Given the description of an element on the screen output the (x, y) to click on. 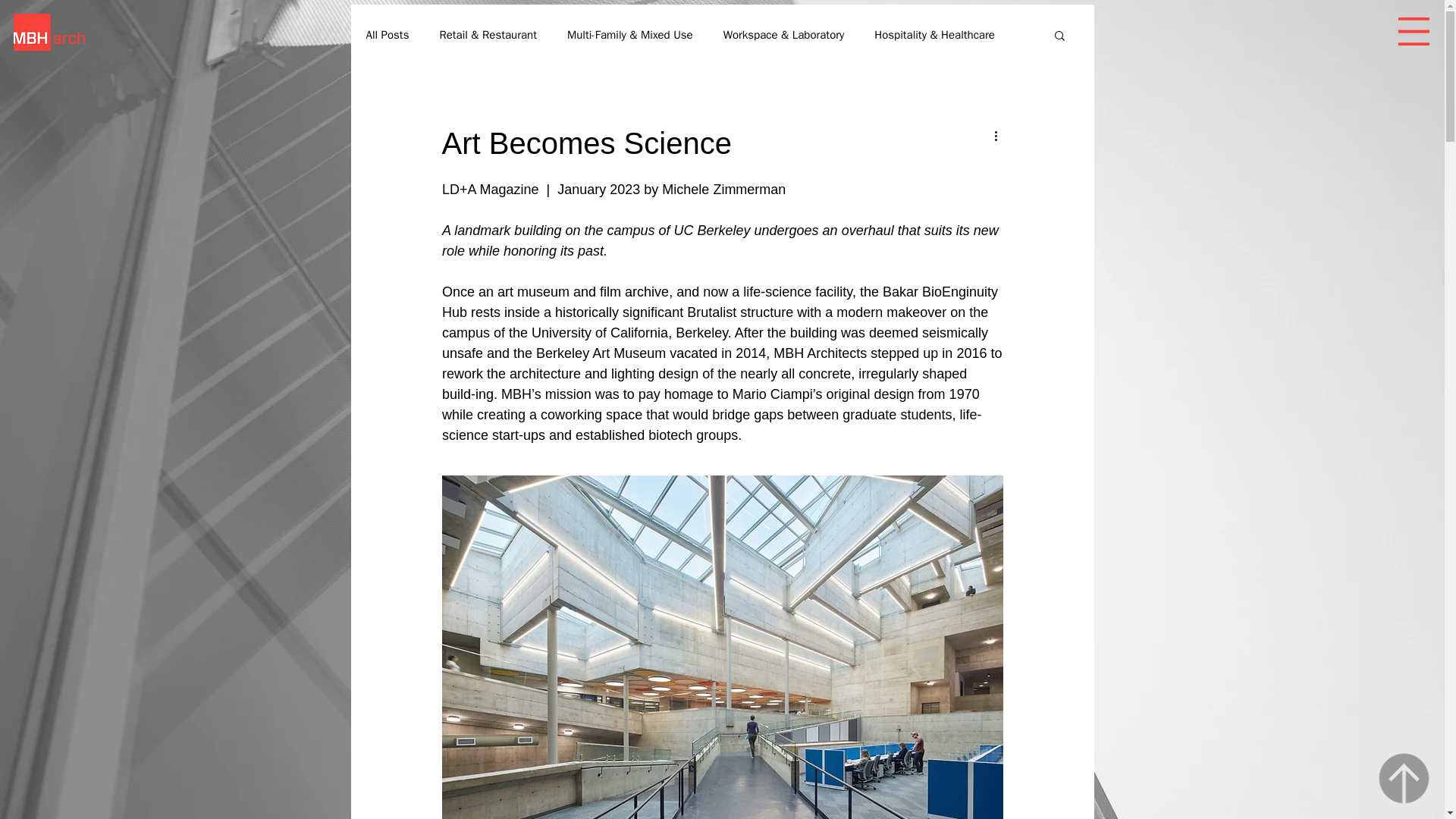
All Posts (387, 34)
